Given the description of an element on the screen output the (x, y) to click on. 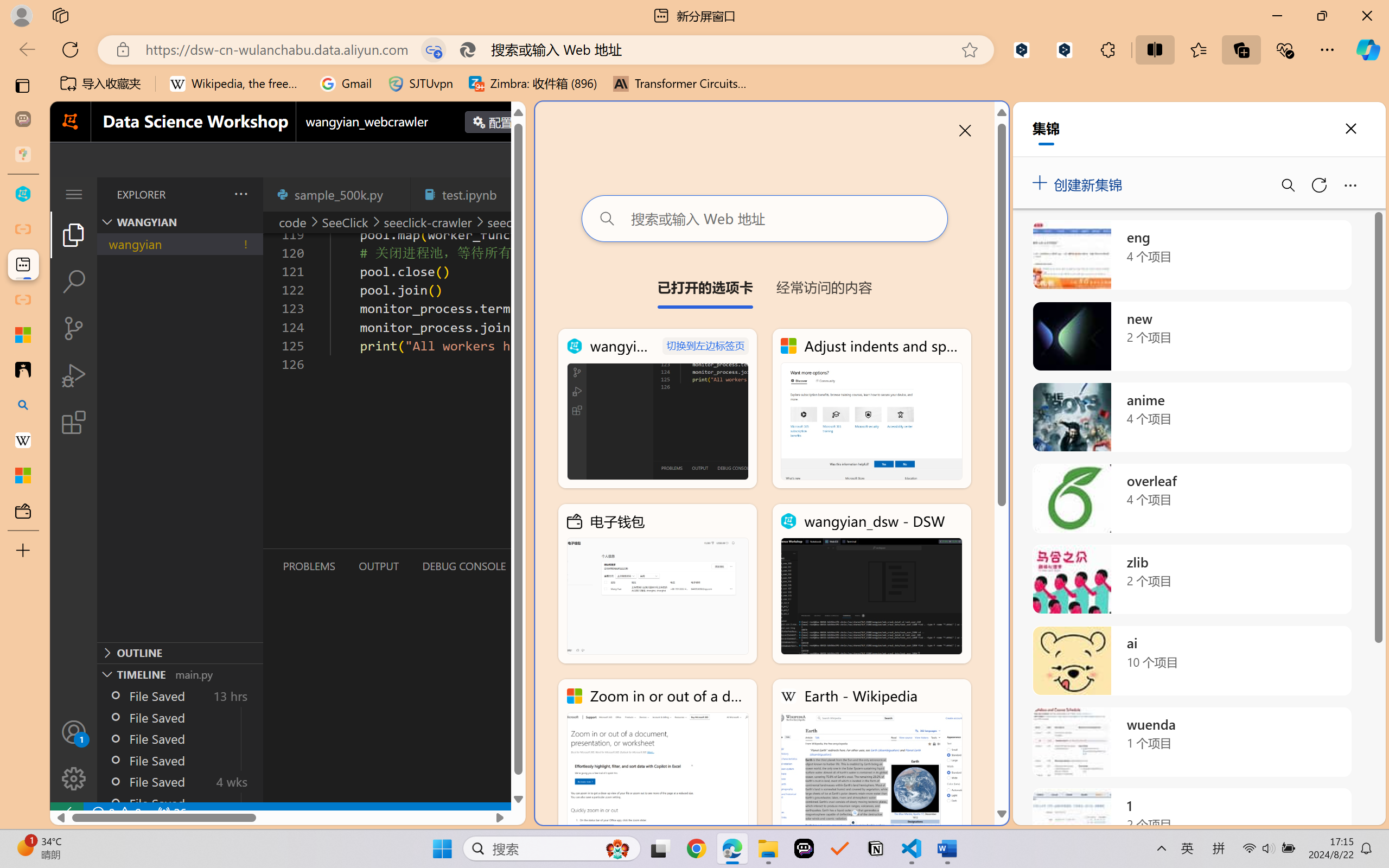
Manage (73, 755)
Transformer Circuits Thread (680, 83)
Gmail (345, 83)
